Given the description of an element on the screen output the (x, y) to click on. 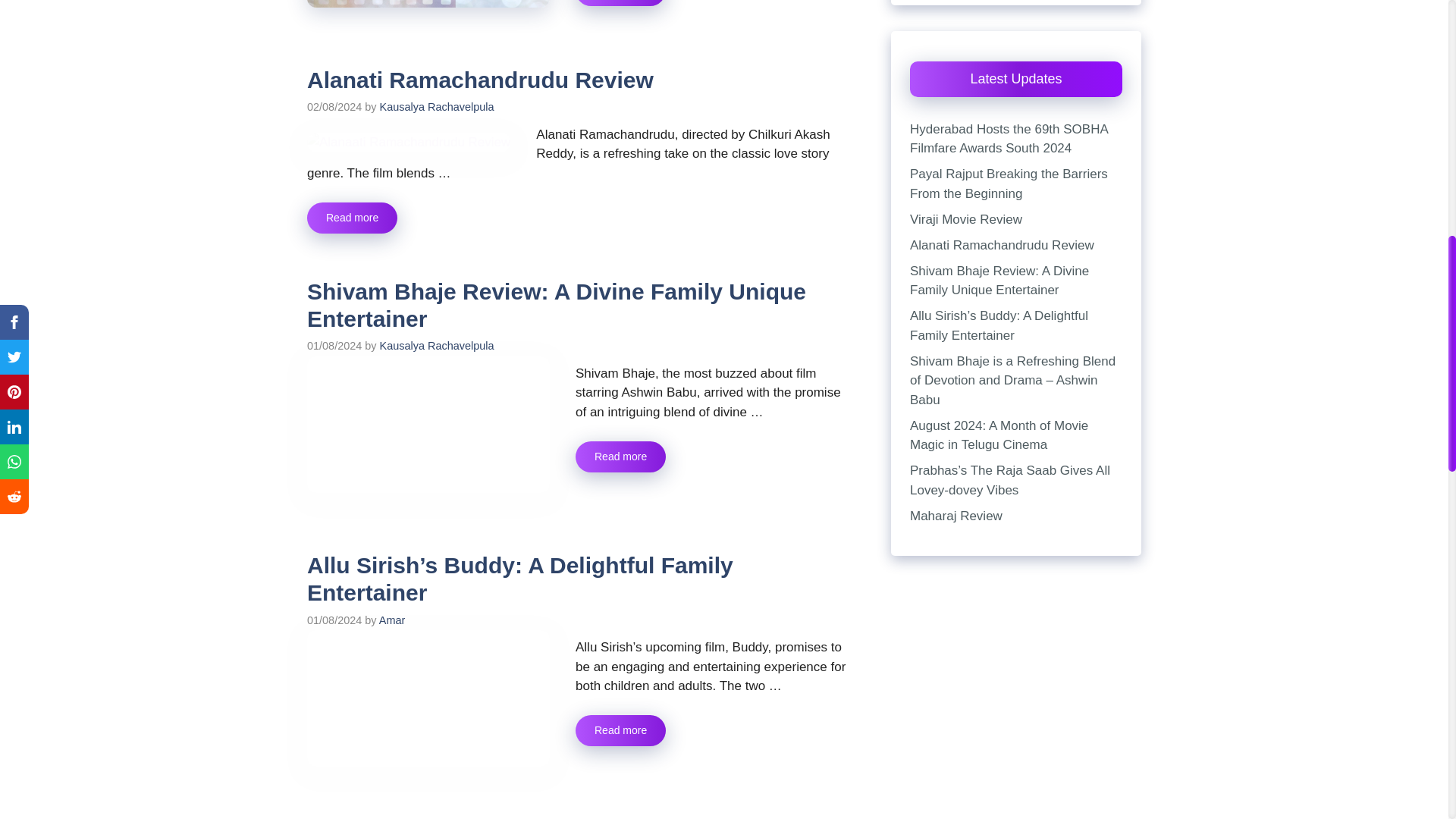
View all posts by Amar (392, 620)
Read more (620, 456)
Read more (620, 2)
Viraji Movie Review (620, 2)
Shivam Bhaje Review: A Divine Family Unique Entertainer (620, 456)
View all posts by Kausalya Rachavelpula (437, 106)
Shivam Bhaje Review: A Divine Family Unique Entertainer (556, 305)
Read more (352, 217)
View all posts by Kausalya Rachavelpula (437, 345)
Kausalya Rachavelpula (437, 345)
Alanati Ramachandrudu Review (480, 79)
Kausalya Rachavelpula (437, 106)
Amar (392, 620)
Alanati Ramachandrudu Review (352, 217)
